Given the description of an element on the screen output the (x, y) to click on. 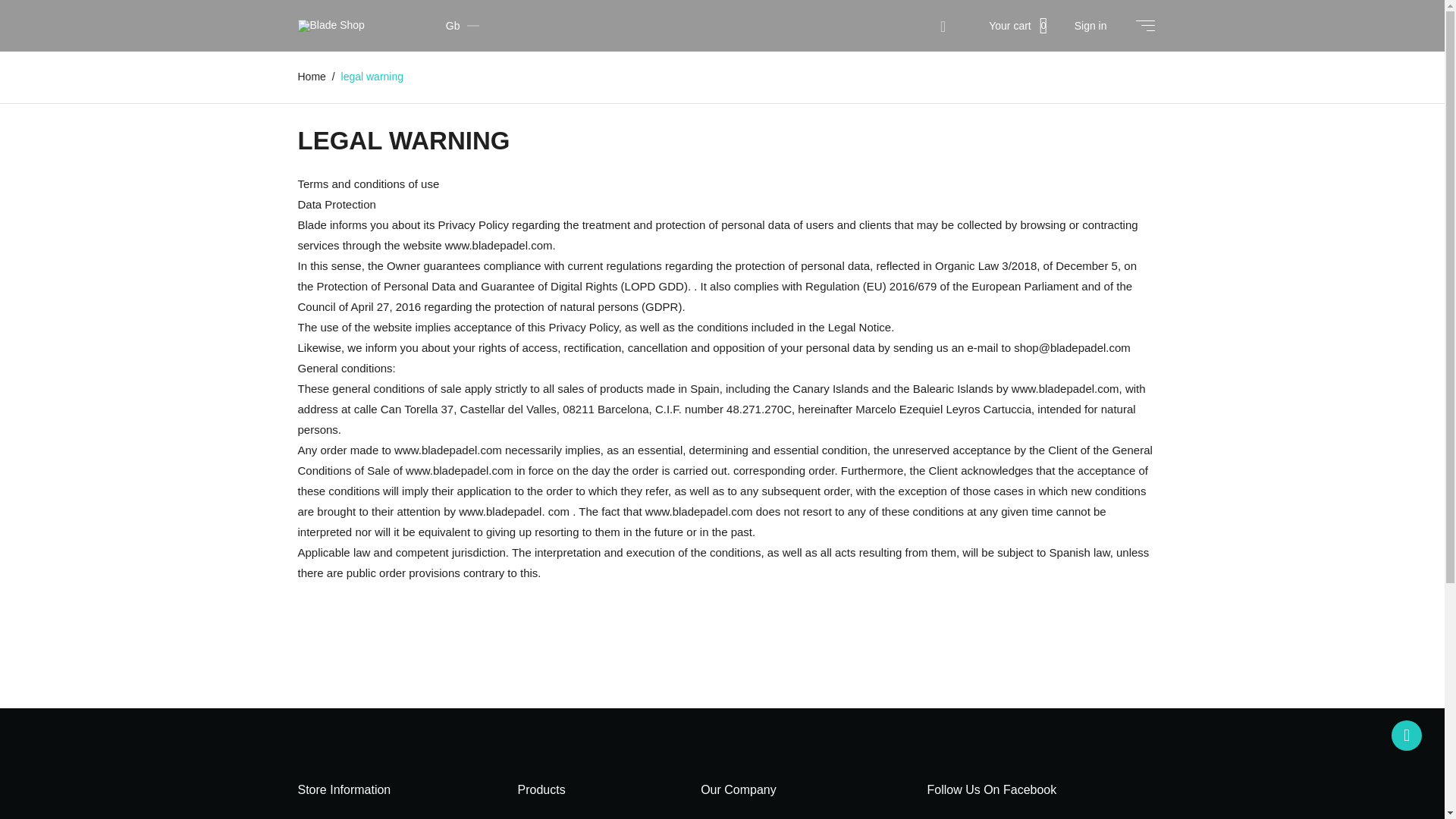
Log in to your customer account (1090, 25)
Home (313, 76)
legal warning (372, 76)
Menu (1143, 25)
Sign in (1090, 25)
